Given the description of an element on the screen output the (x, y) to click on. 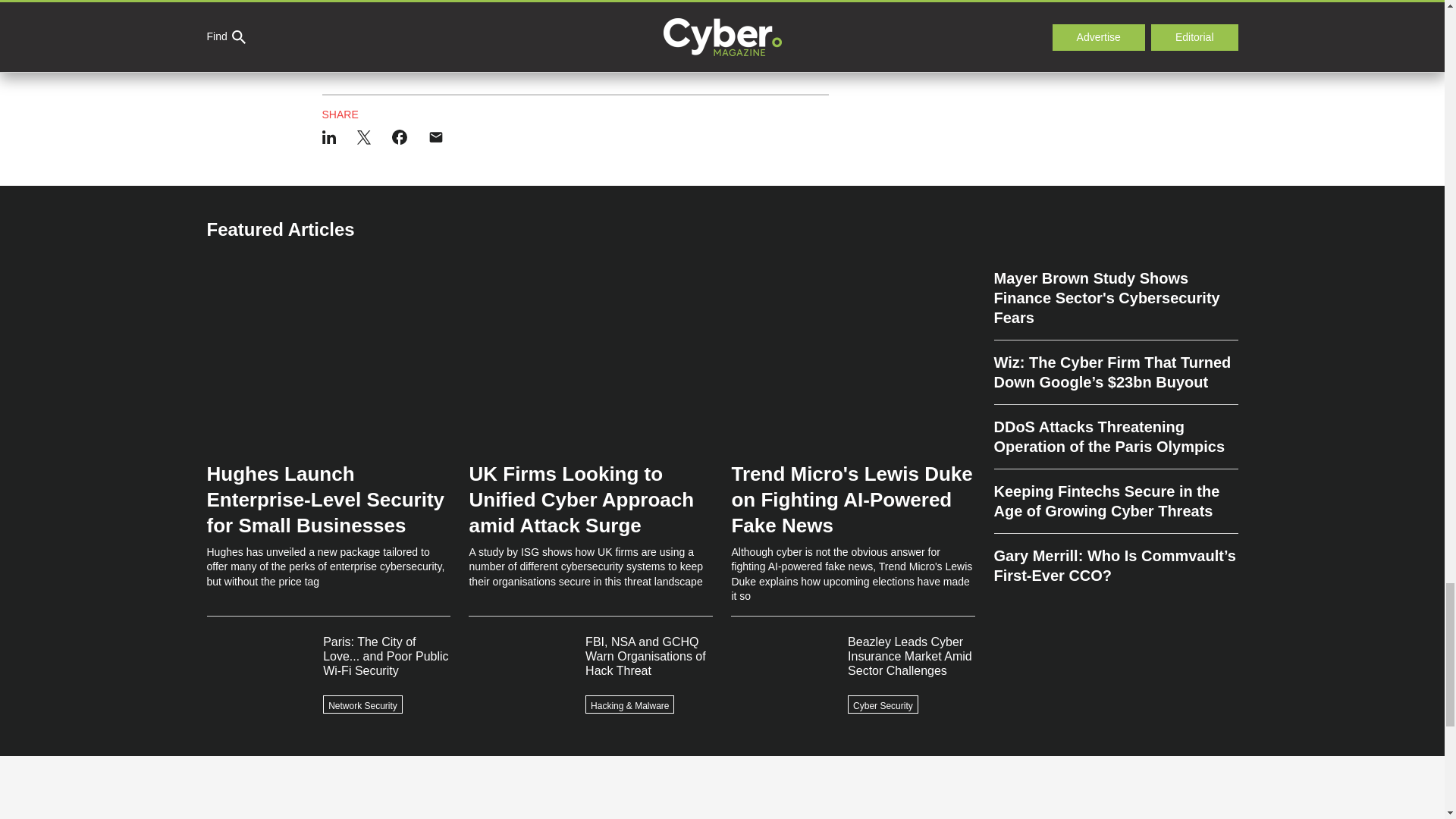
ZEROTRUST (462, 54)
DDoS Attacks Threatening Operation of the Paris Olympics (1114, 436)
SECURITY (395, 54)
TECHNOLOGY (536, 54)
Mayer Brown Study Shows Finance Sector's Cybersecurity Fears (1114, 304)
CYBER (341, 54)
Keeping Fintechs Secure in the Age of Growing Cyber Threats (1114, 501)
